Given the description of an element on the screen output the (x, y) to click on. 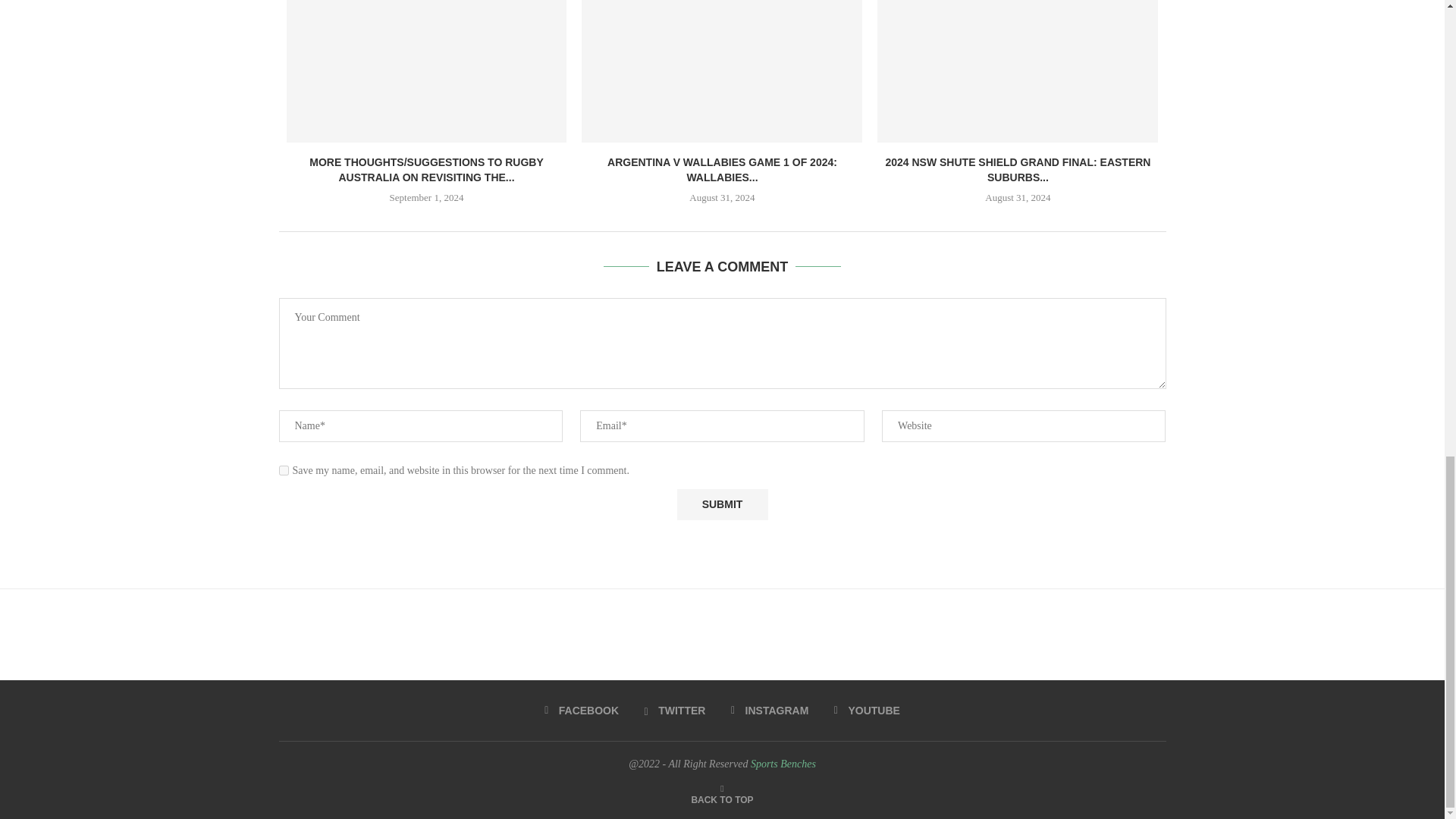
Submit (722, 504)
ARGENTINA V WALLABIES GAME 1 OF 2024: WALLABIES... (722, 169)
yes (283, 470)
2024 NSW SHUTE SHIELD GRAND FINAL: EASTERN SUBURBS... (1017, 169)
